Given the description of an element on the screen output the (x, y) to click on. 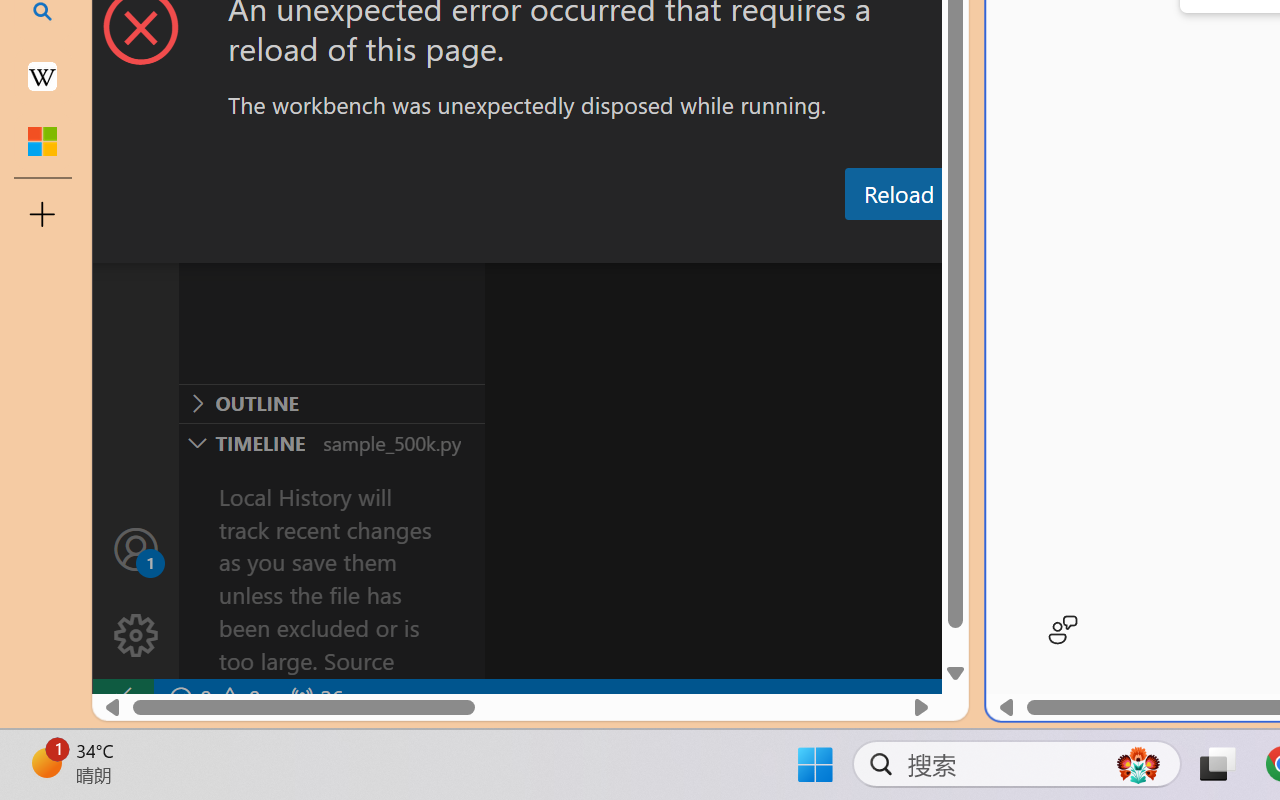
No Problems (212, 698)
Terminal (Ctrl+`) (1021, 243)
Manage (135, 635)
remote (122, 698)
Earth - Wikipedia (42, 75)
Accounts - Sign in requested (135, 548)
Debug Console (Ctrl+Shift+Y) (854, 243)
